Given the description of an element on the screen output the (x, y) to click on. 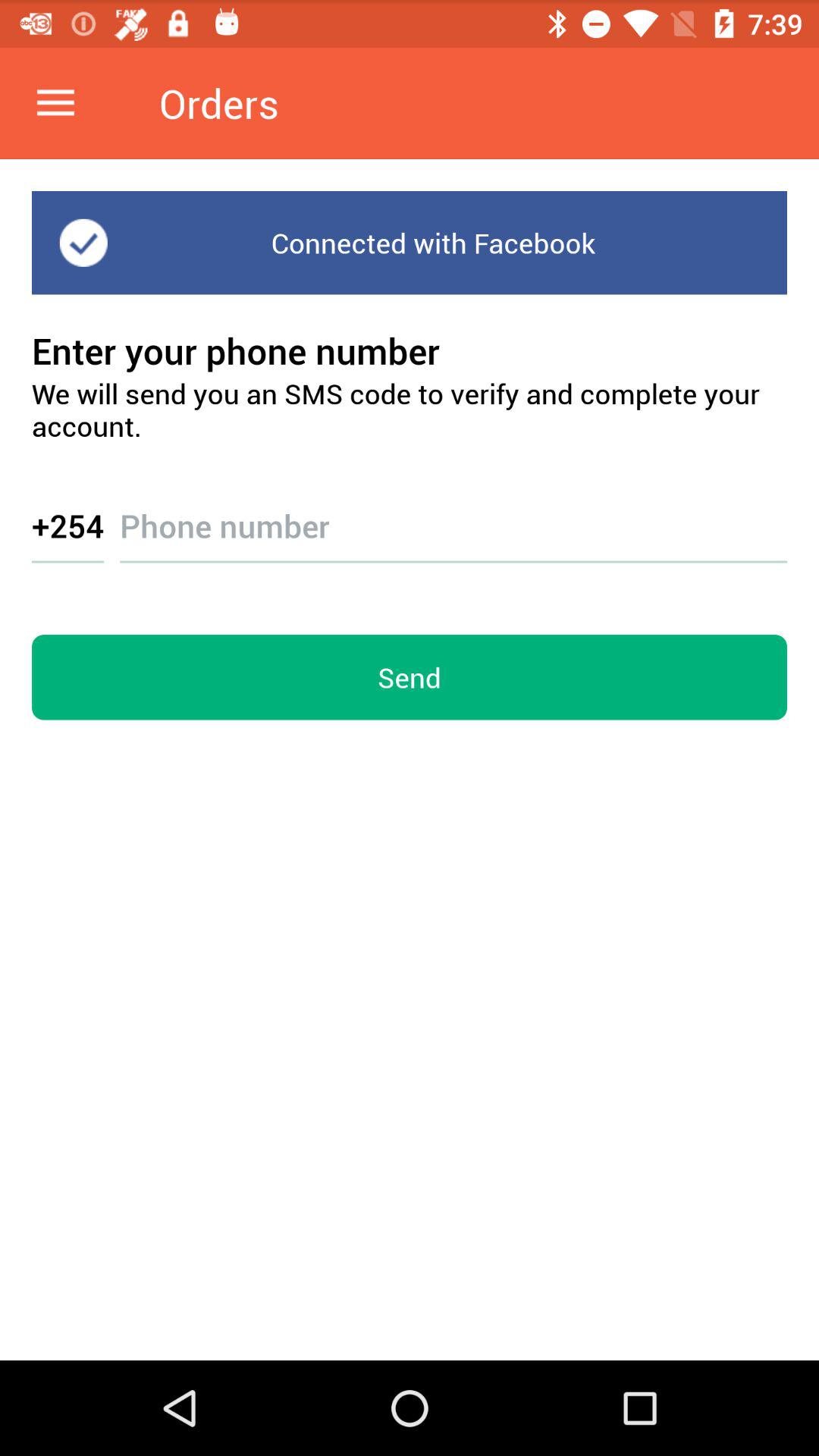
turn on the item above send (67, 525)
